Given the description of an element on the screen output the (x, y) to click on. 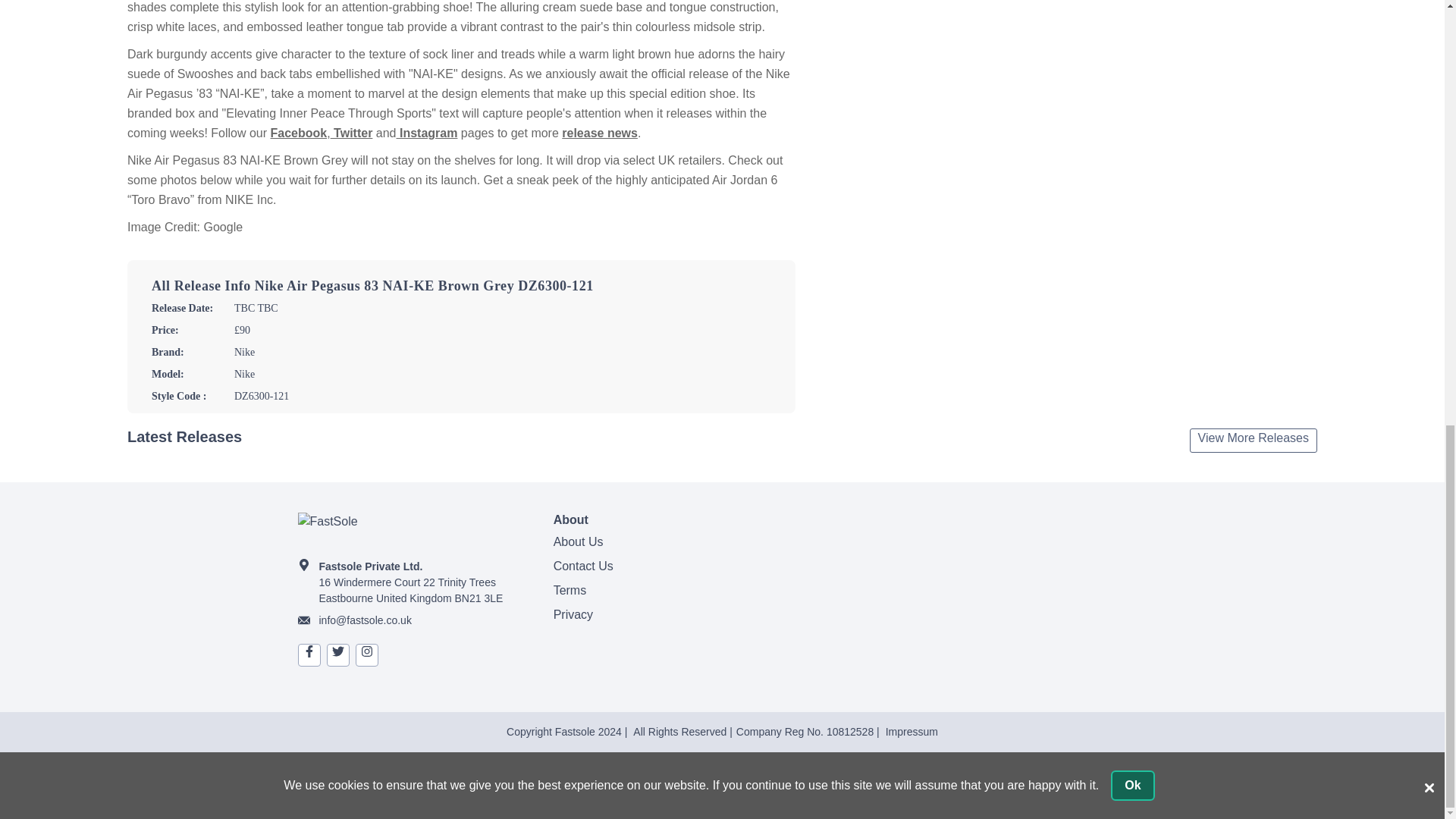
FastSole (412, 529)
